Given the description of an element on the screen output the (x, y) to click on. 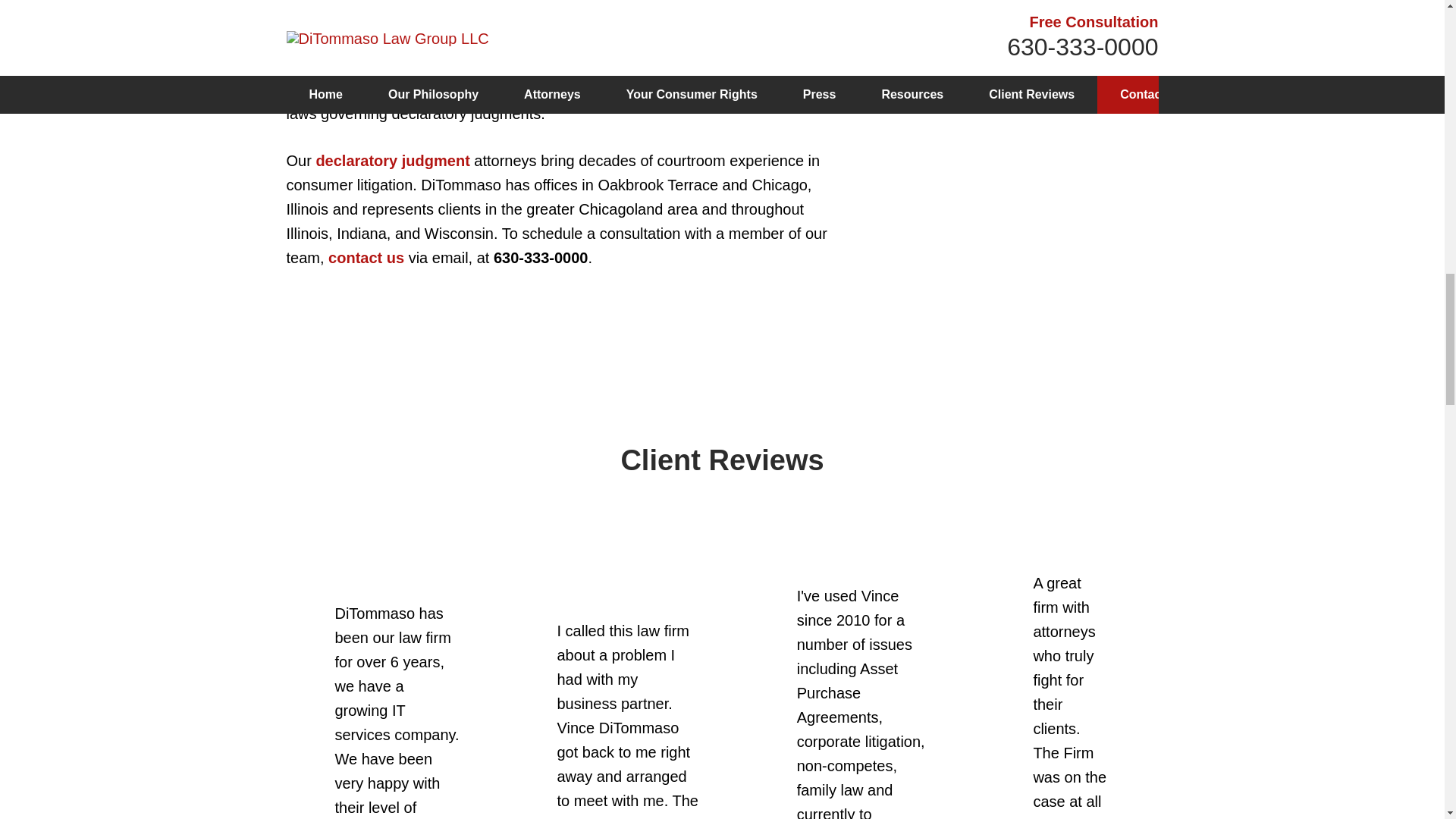
Declaratory Judgments (987, 2)
declaratory judgment (391, 160)
contact us (366, 257)
